Given the description of an element on the screen output the (x, y) to click on. 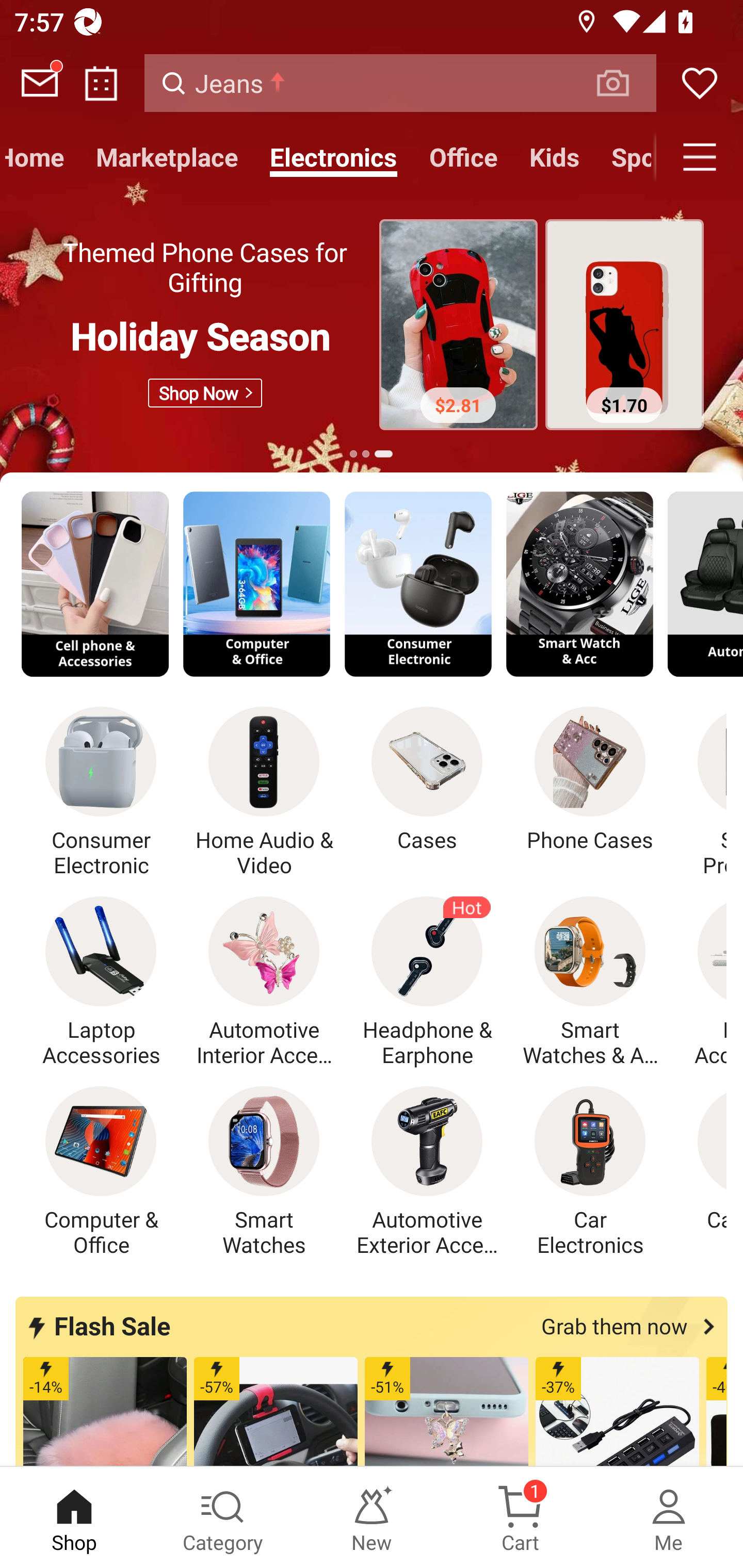
Wishlist (699, 82)
VISUAL SEARCH (623, 82)
Home (40, 156)
Marketplace (167, 156)
Electronics (333, 156)
Office (463, 156)
Kids (554, 156)
Sports (625, 156)
Category (222, 1517)
New (371, 1517)
Cart 1 Cart (519, 1517)
Me (668, 1517)
